Given the description of an element on the screen output the (x, y) to click on. 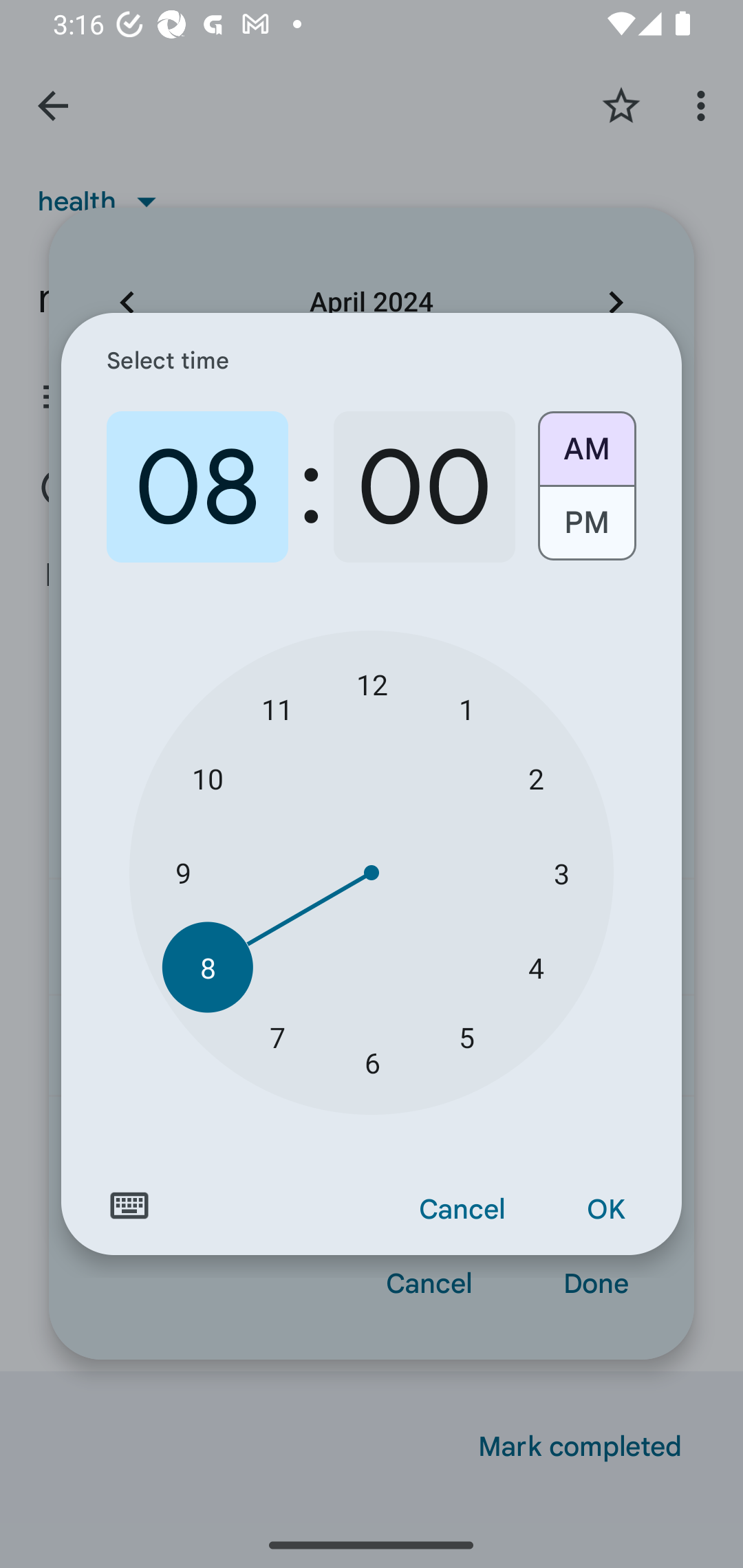
AM (586, 441)
08 8 o'clock (197, 486)
00 0 minutes (424, 486)
PM (586, 529)
12 12 o'clock (371, 683)
11 11 o'clock (276, 708)
1 1 o'clock (466, 708)
10 10 o'clock (207, 778)
2 2 o'clock (535, 778)
9 9 o'clock (182, 872)
3 3 o'clock (561, 872)
8 8 o'clock (207, 966)
4 4 o'clock (535, 966)
7 7 o'clock (276, 1035)
5 5 o'clock (466, 1035)
6 6 o'clock (371, 1062)
Switch to text input mode for the time input. (128, 1205)
Cancel (462, 1209)
OK (605, 1209)
